Given the description of an element on the screen output the (x, y) to click on. 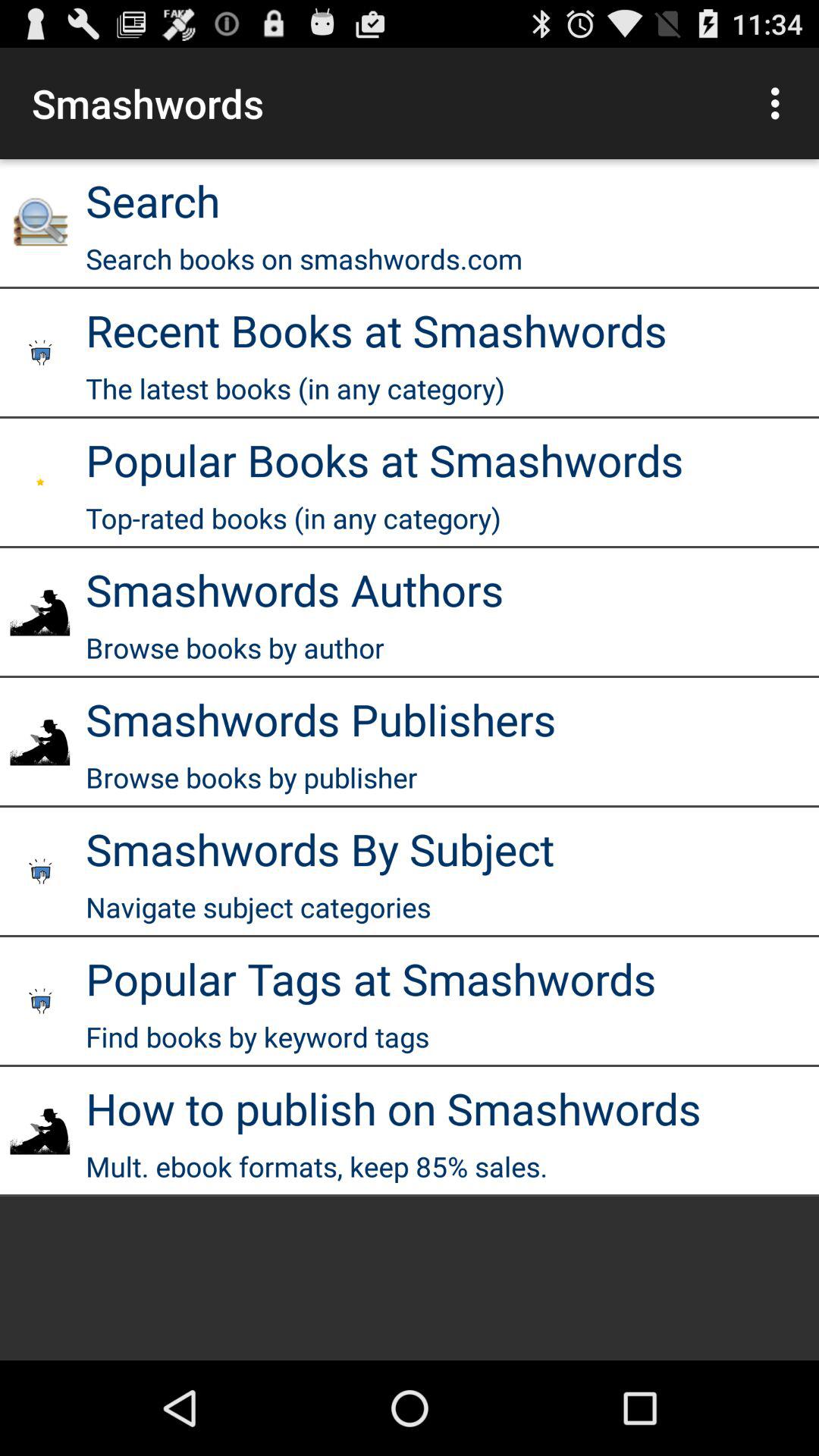
select the icon below the find books by icon (393, 1107)
